Given the description of an element on the screen output the (x, y) to click on. 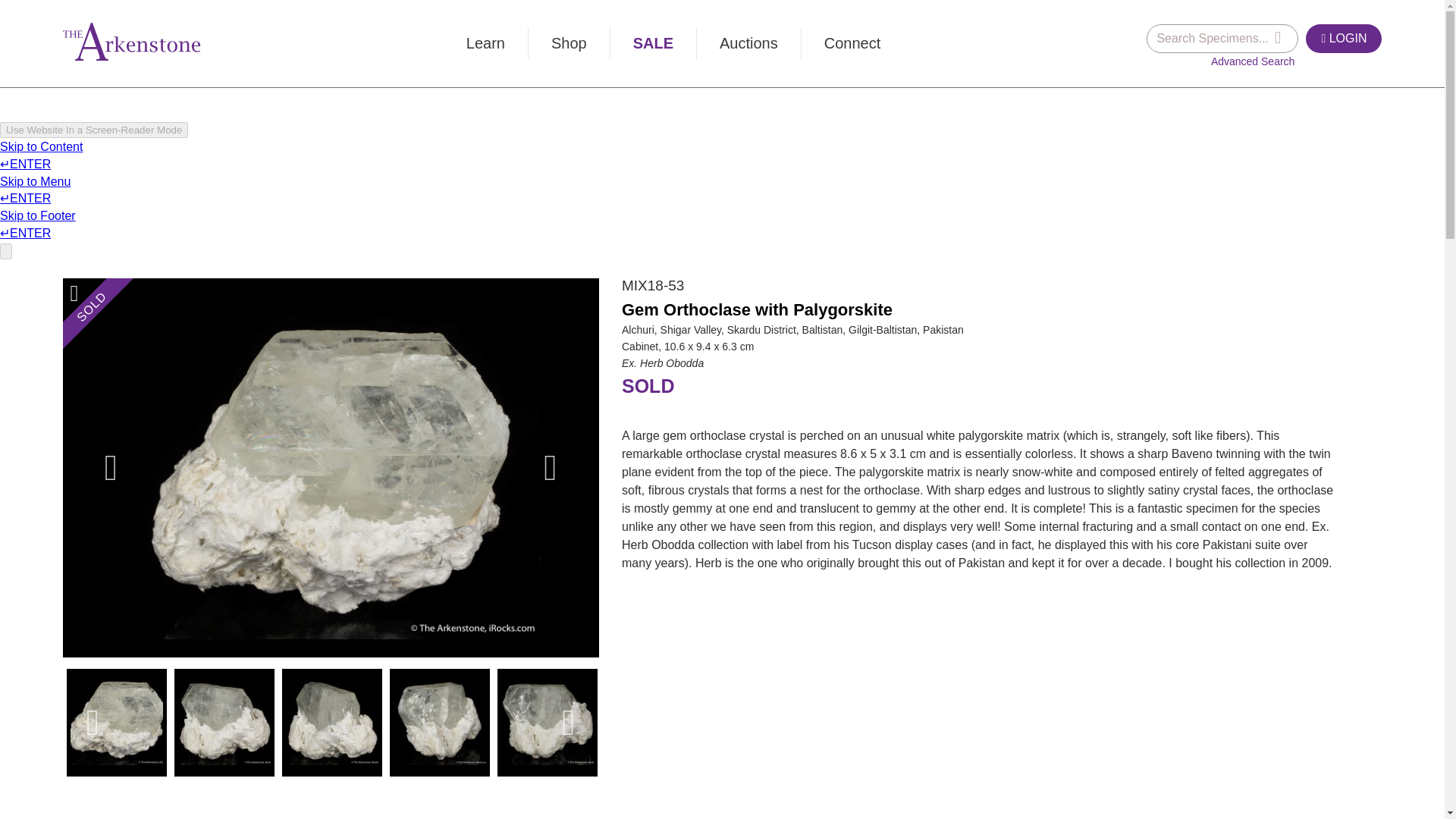
Advanced Search (1253, 61)
Previous (110, 467)
Auctions (748, 42)
Search (1278, 37)
Shop (569, 42)
SALE (652, 42)
Login (1322, 38)
LOGIN (1343, 38)
Learn (485, 42)
Connect (853, 42)
